Given the description of an element on the screen output the (x, y) to click on. 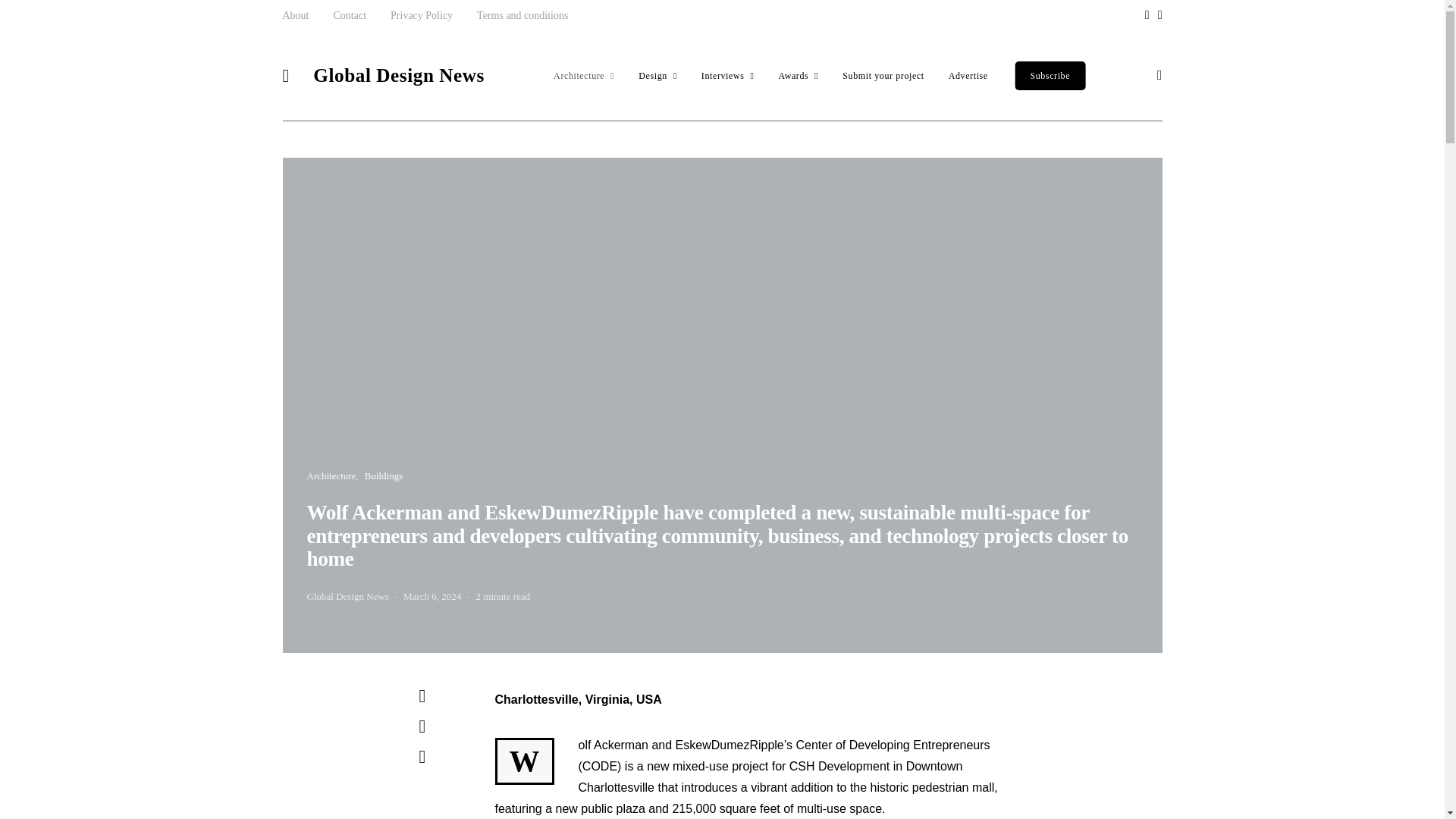
View all posts by Global Design News (346, 595)
